Given the description of an element on the screen output the (x, y) to click on. 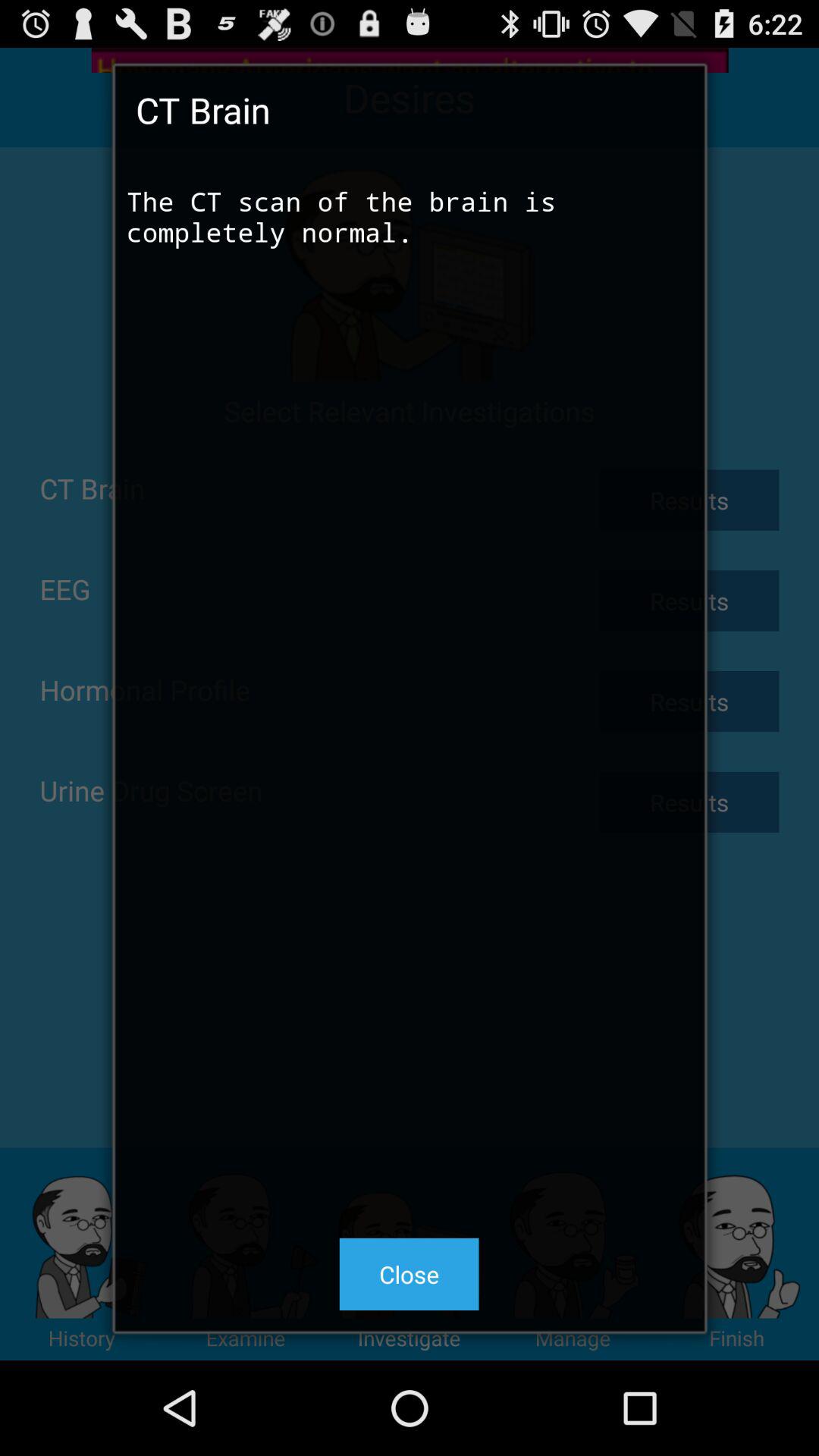
scroll to the close (408, 1274)
